Given the description of an element on the screen output the (x, y) to click on. 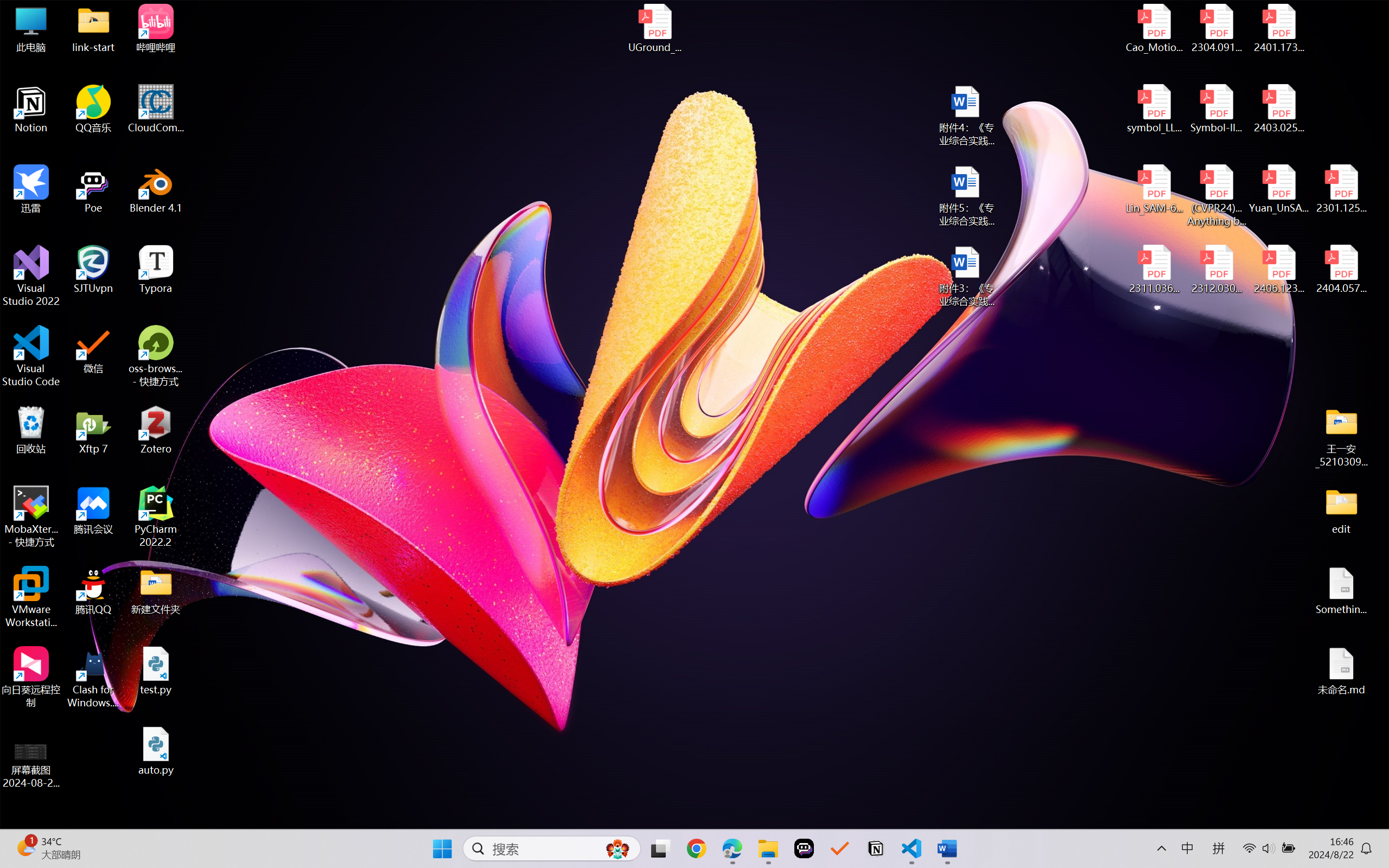
SJTUvpn (93, 269)
Symbol-llm-v2.pdf (1216, 109)
Visual Studio Code (31, 355)
